Given the description of an element on the screen output the (x, y) to click on. 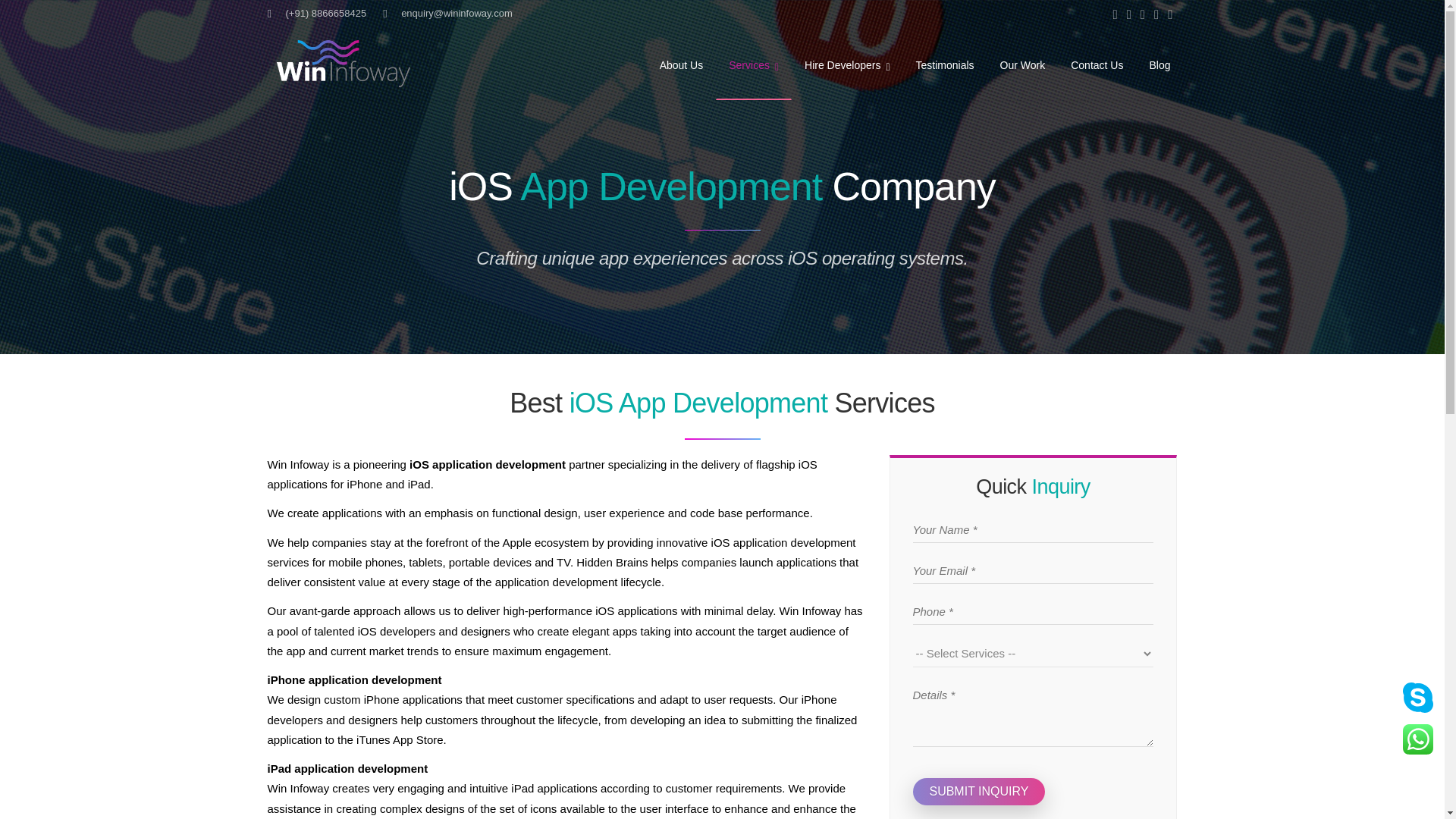
Facebook (1114, 15)
WhatsApp Us (1417, 738)
About Us (681, 63)
LinkedIn (1156, 15)
Services (754, 63)
Skype (1169, 15)
Skype Us (1417, 697)
Hire Developers (847, 63)
Google Plus (1142, 15)
Submit Inquiry (978, 791)
Twitter (1128, 15)
